Given the description of an element on the screen output the (x, y) to click on. 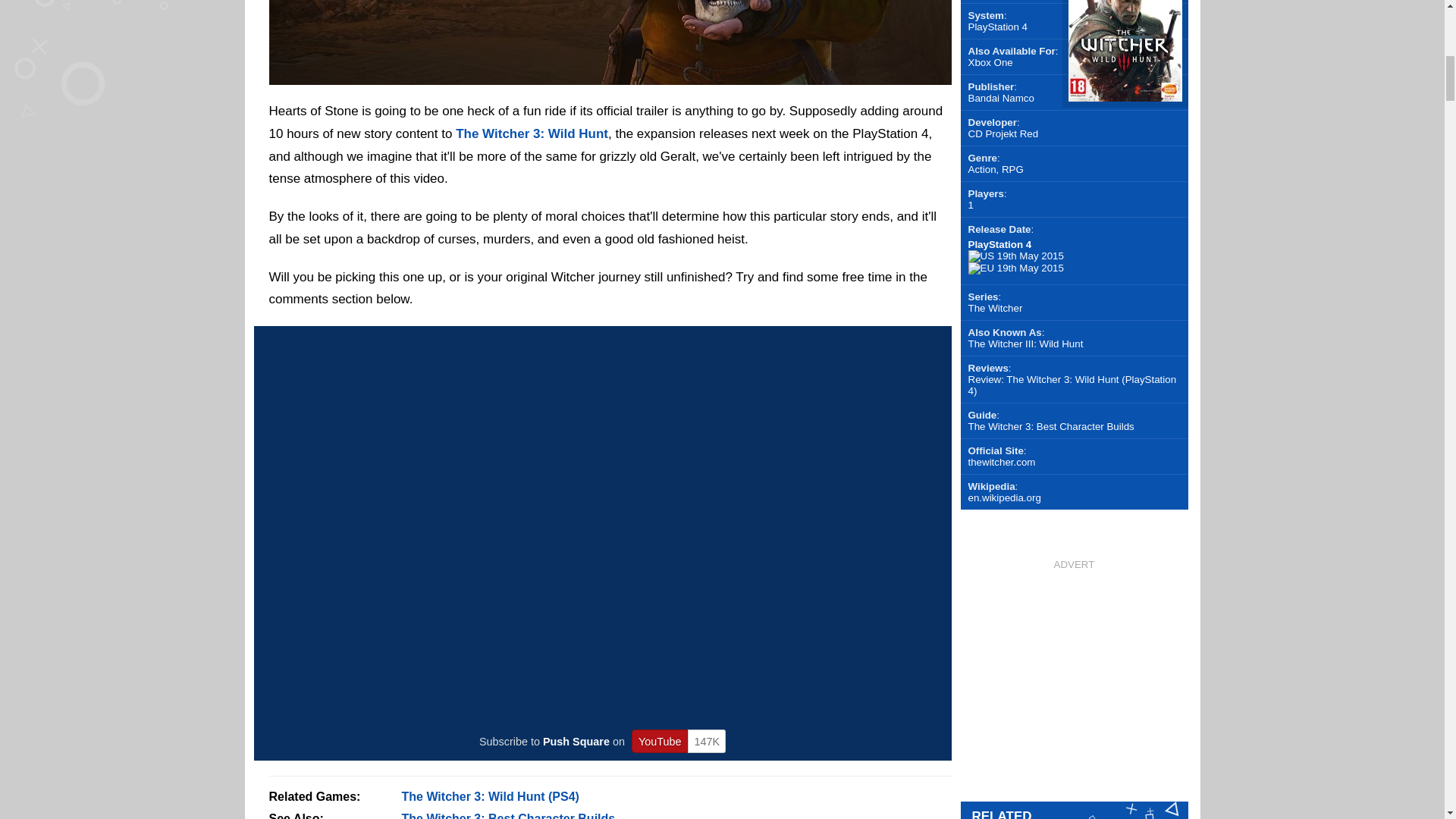
The Witcher 3: Best Character Builds (508, 815)
witcher 3 expansion 1.jpg (608, 74)
